Given the description of an element on the screen output the (x, y) to click on. 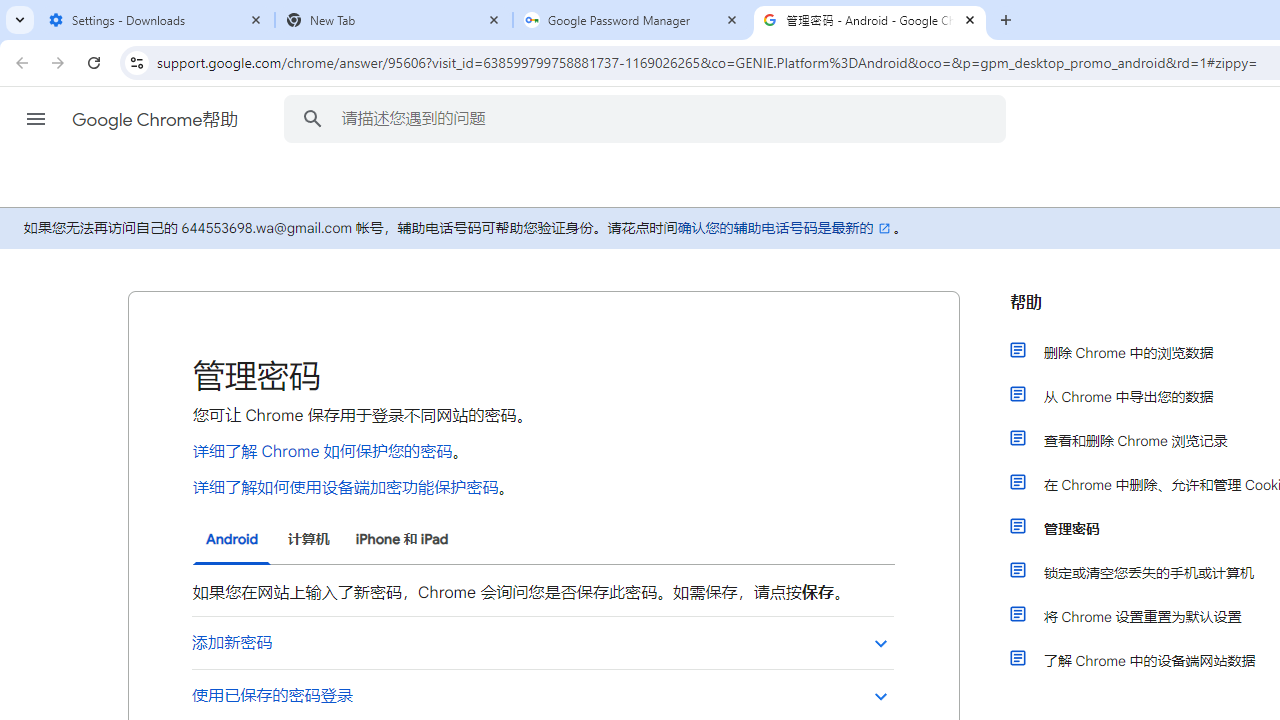
Settings - Downloads (156, 20)
Android (232, 540)
